Given the description of an element on the screen output the (x, y) to click on. 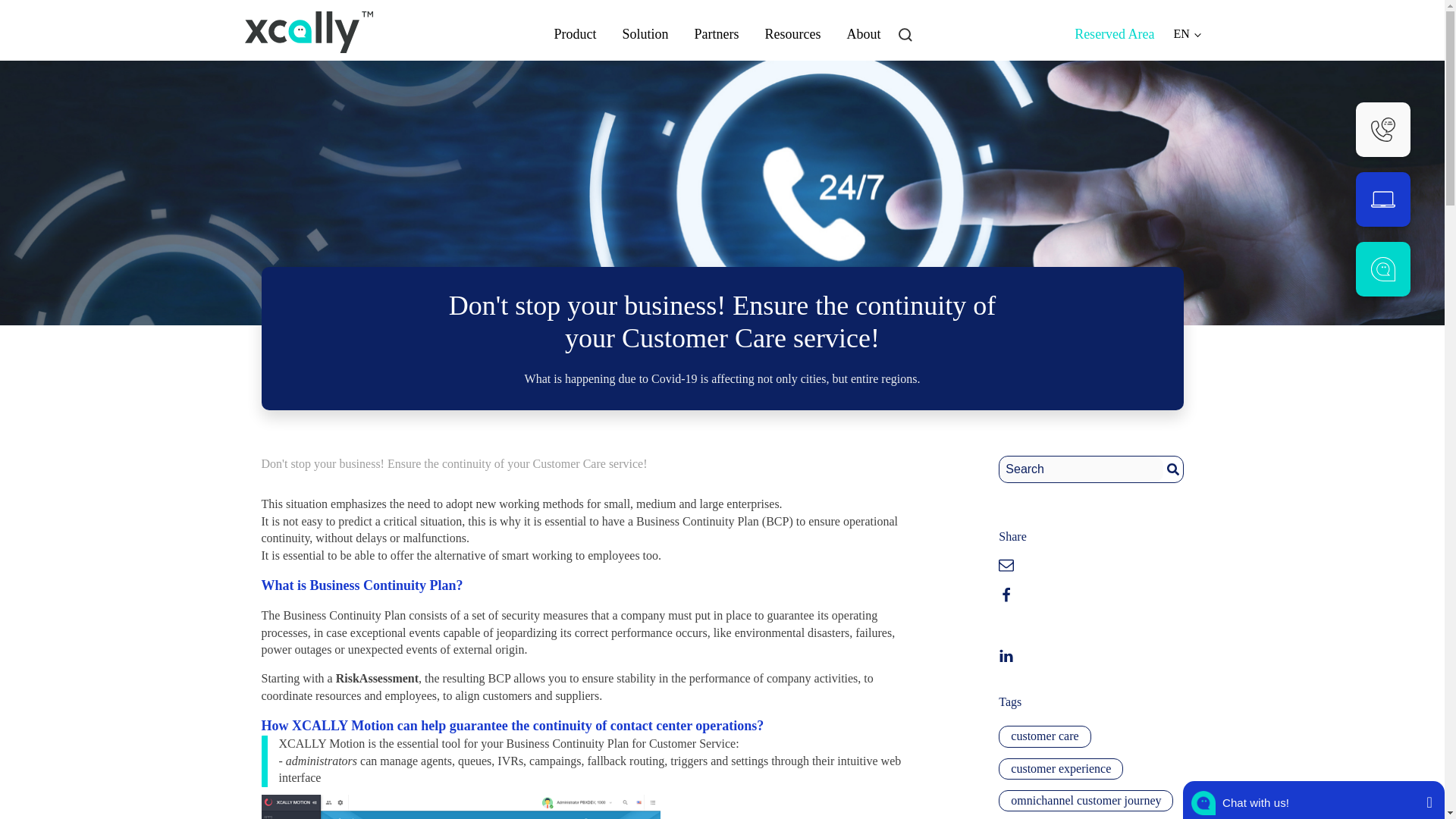
EN (1186, 33)
Search for: (1080, 469)
Product (575, 33)
